Given the description of an element on the screen output the (x, y) to click on. 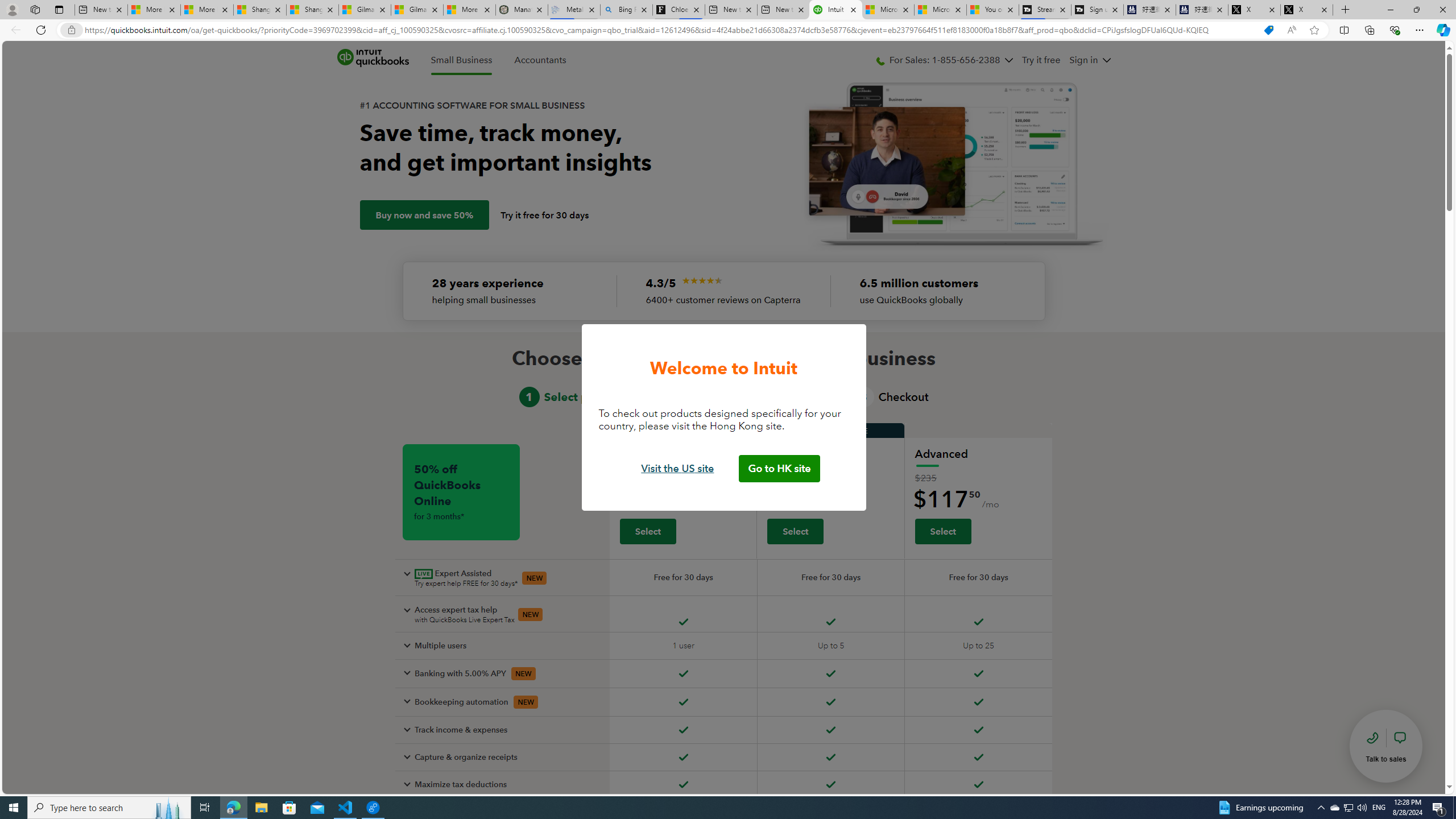
Visit the US site (677, 468)
Shopping in Microsoft Edge (1268, 29)
Select advanced (942, 531)
For Sales: 1-855-656-2388 (944, 60)
X (1306, 9)
Small Business (461, 60)
Try it free for 30 days (544, 214)
PhoneIcon (880, 61)
